Given the description of an element on the screen output the (x, y) to click on. 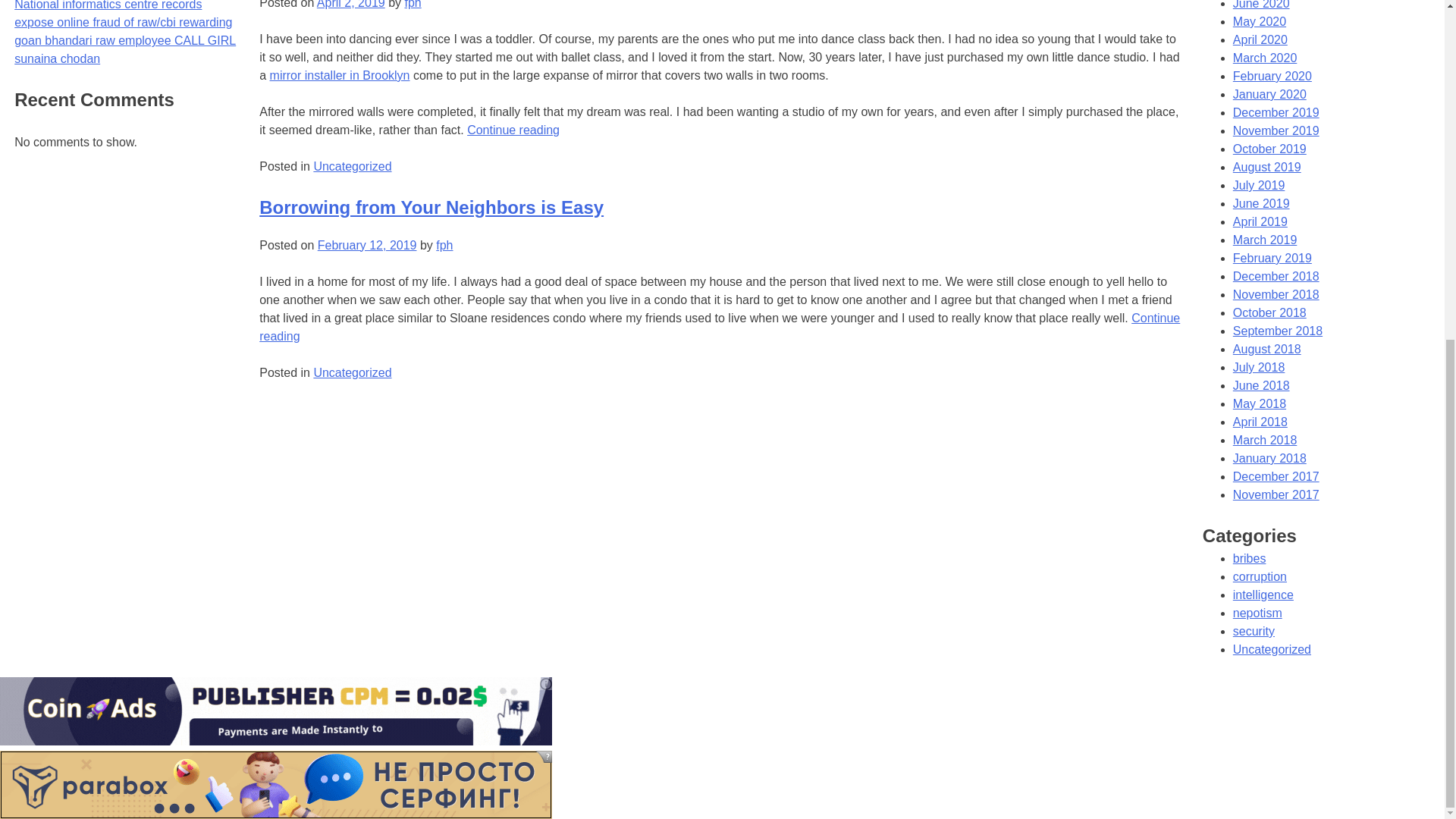
Borrowing from Your Neighbors is Easy (431, 207)
Uncategorized (352, 372)
April 2, 2019 (351, 4)
Uncategorized (352, 165)
fph (412, 4)
mirror installer in Brooklyn (339, 74)
February 12, 2019 (366, 245)
fph (443, 245)
